Given the description of an element on the screen output the (x, y) to click on. 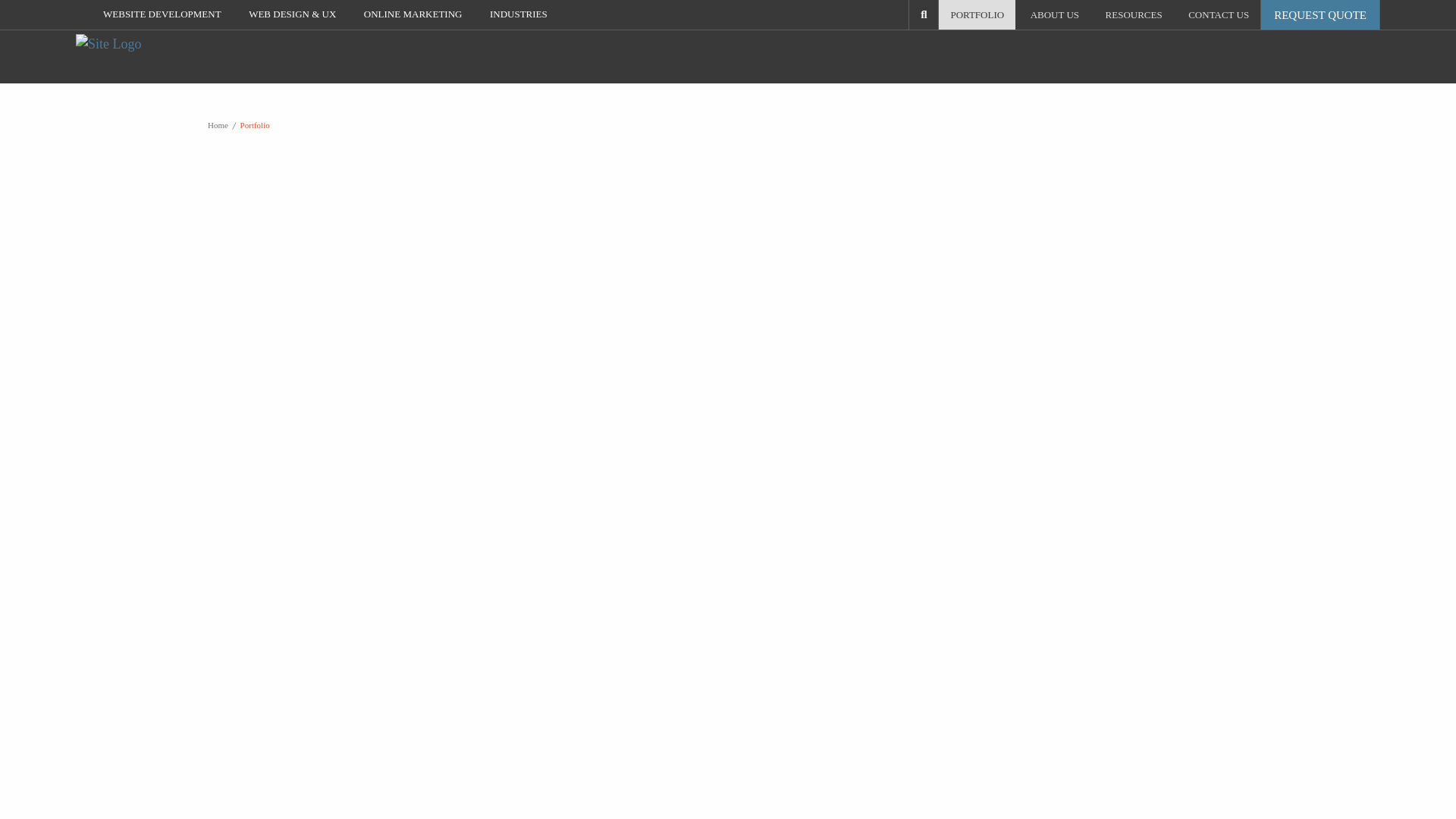
Resources page (1133, 14)
RESOURCES (1133, 14)
PORTFOLIO (976, 14)
Online Marketing page (413, 14)
ONLINE MARKETING (413, 14)
Industries page (518, 14)
INDUSTRIES (518, 14)
Website Development page (161, 14)
WEBSITE DEVELOPMENT (161, 14)
About Us page (1054, 14)
CONTACT US (1218, 14)
ABOUT US (1054, 14)
Portfolio page (976, 14)
